Given the description of an element on the screen output the (x, y) to click on. 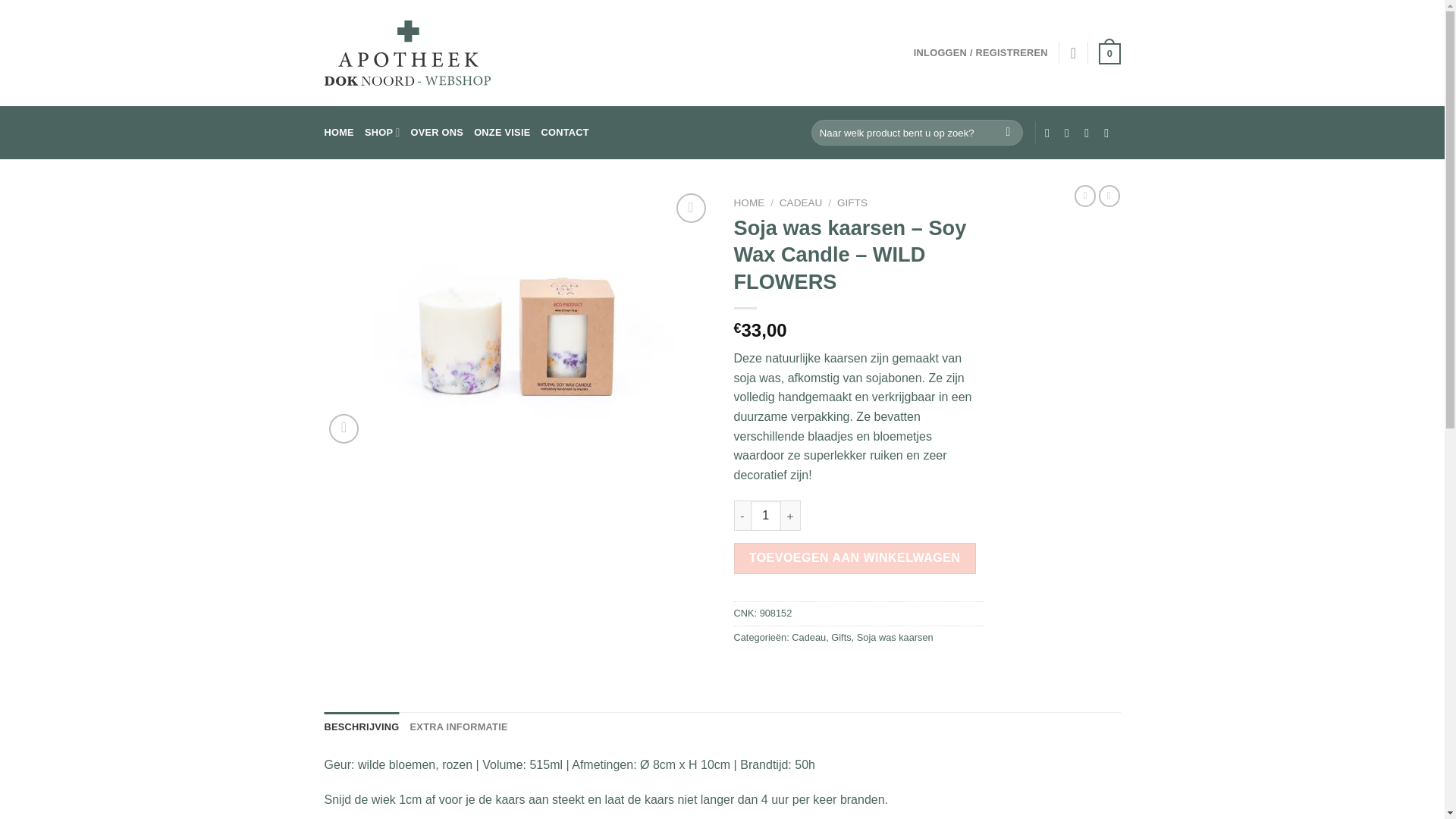
Volg ons op Facebook Element type: hover (1050, 132)
HOME Element type: text (749, 202)
Stuur ons een e-mail Element type: hover (1090, 132)
INLOGGEN / REGISTREREN Element type: text (980, 52)
Cadeau Element type: text (808, 637)
EXTRA INFORMATIE Element type: text (459, 727)
Bel ons Element type: hover (1110, 132)
Zoeken Element type: text (1007, 132)
Gifts Element type: text (840, 637)
CONTACT Element type: text (565, 132)
ONZE VISIE Element type: text (501, 132)
Soja was kaarsen Element type: text (894, 637)
SHOP Element type: text (382, 132)
Volg ons op Instagram Element type: hover (1070, 132)
0 Element type: text (1109, 52)
HOME Element type: text (339, 132)
TOEVOEGEN AAN WINKELWAGEN Element type: text (854, 557)
GIFTS Element type: text (852, 202)
BESCHRIJVING Element type: text (361, 727)
Zoom Element type: hover (343, 428)
CADEAU Element type: text (800, 202)
OVER ONS Element type: text (437, 132)
